Given the description of an element on the screen output the (x, y) to click on. 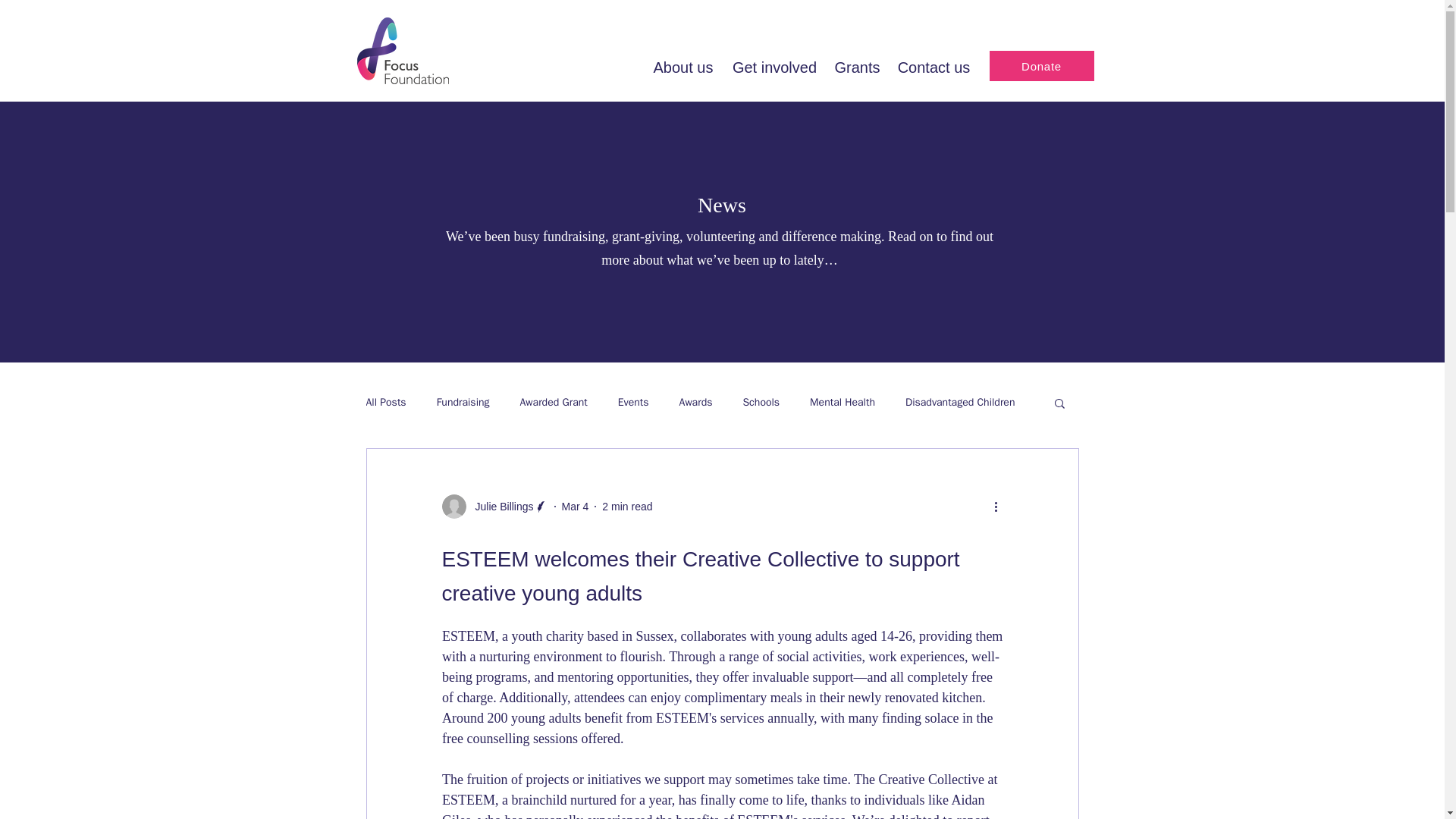
Disadvantaged Children (959, 402)
Awards (696, 402)
Schools (760, 402)
2 min read (627, 506)
Mental Health (842, 402)
Awarded Grant (553, 402)
Julie Billings (498, 506)
Contact us (933, 65)
Get involved (774, 65)
About us (682, 65)
